Given the description of an element on the screen output the (x, y) to click on. 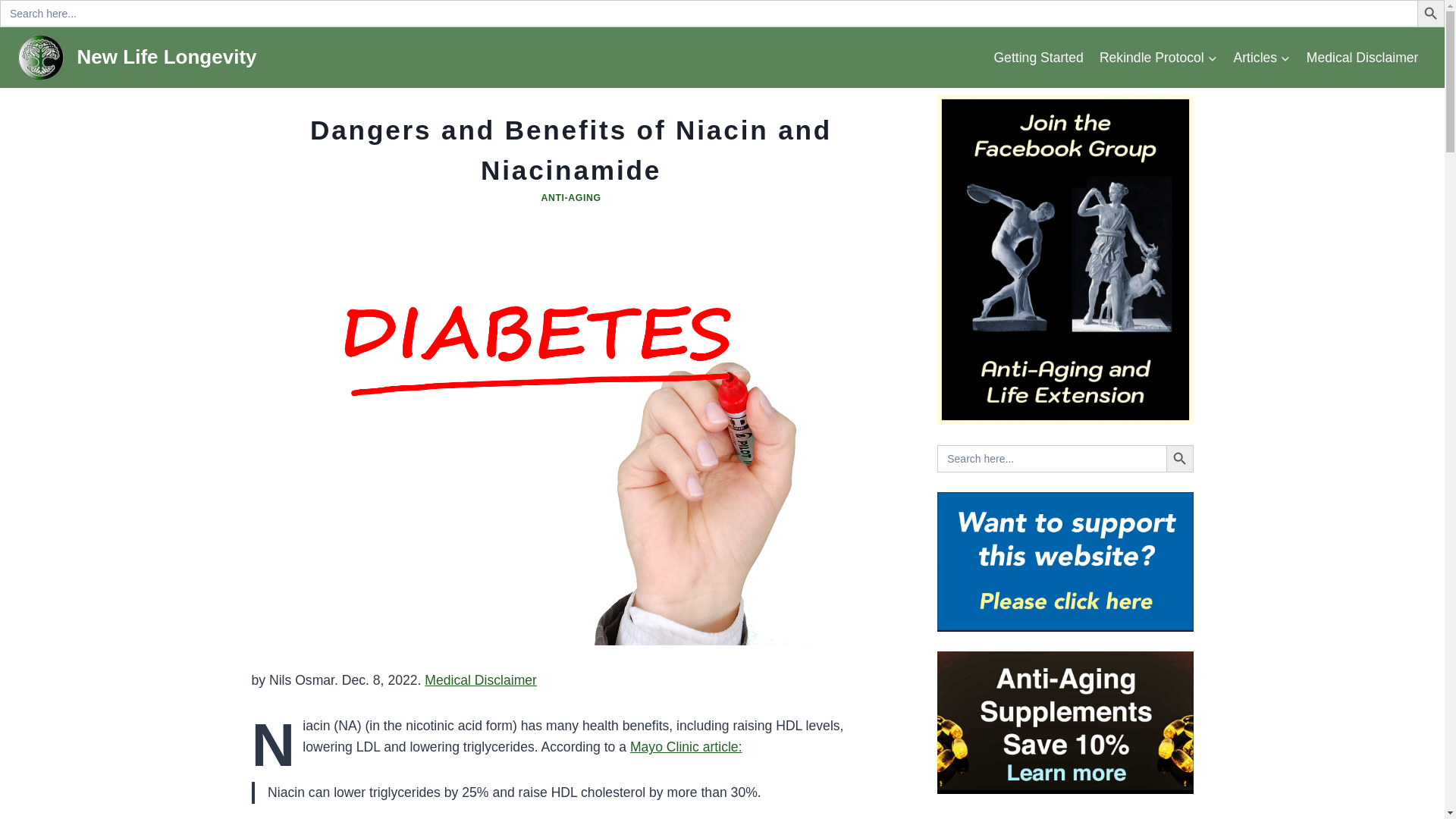
Getting Started (1037, 57)
Rekindle Protocol (1157, 57)
ANTI-AGING (569, 197)
New Life Longevity (137, 57)
Medical Disclaimer (481, 679)
Medical Disclaimer (1362, 57)
Mayo Clinic article: (686, 746)
Articles (1261, 57)
